Given the description of an element on the screen output the (x, y) to click on. 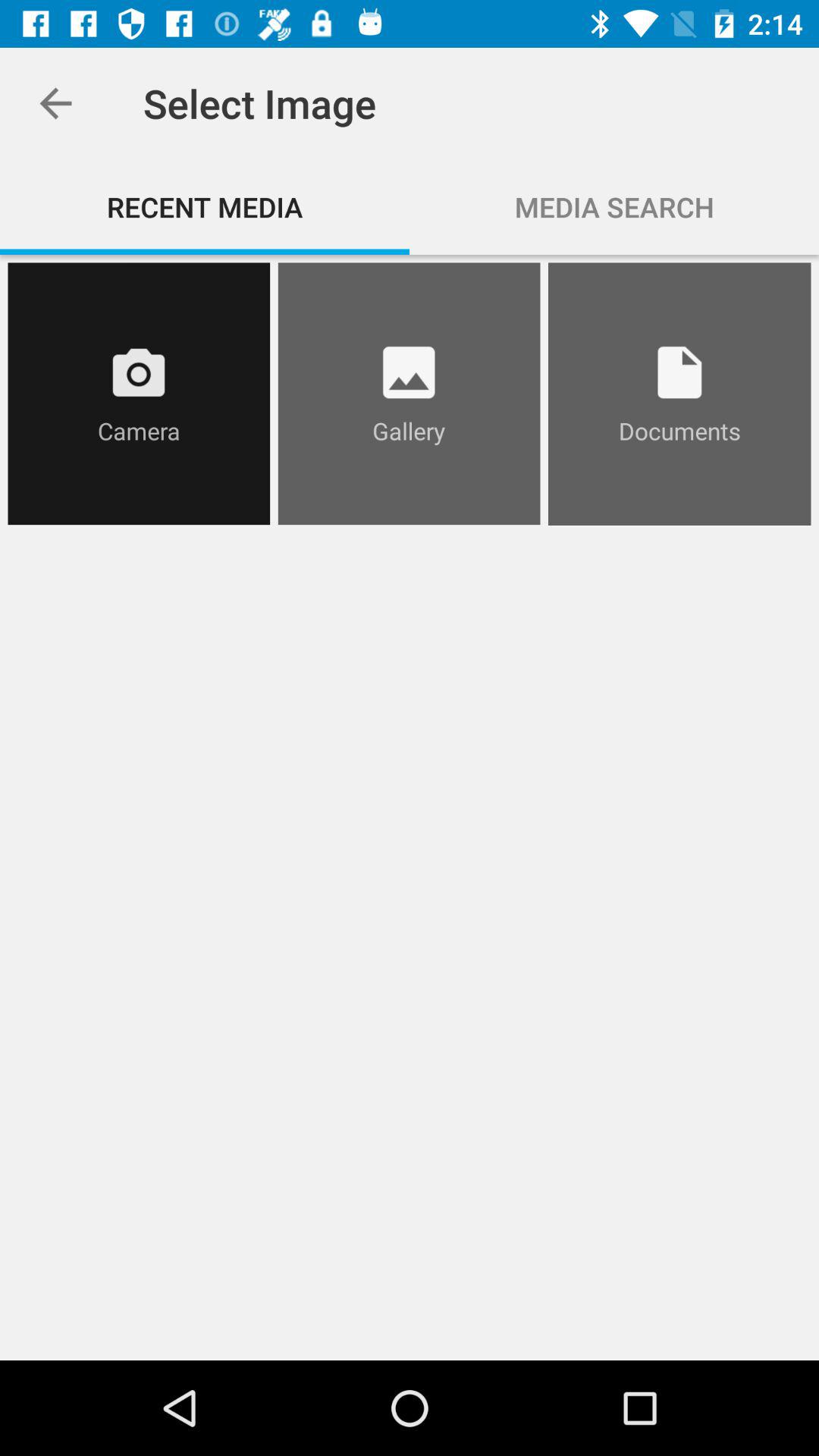
scroll until recent media (204, 206)
